Given the description of an element on the screen output the (x, y) to click on. 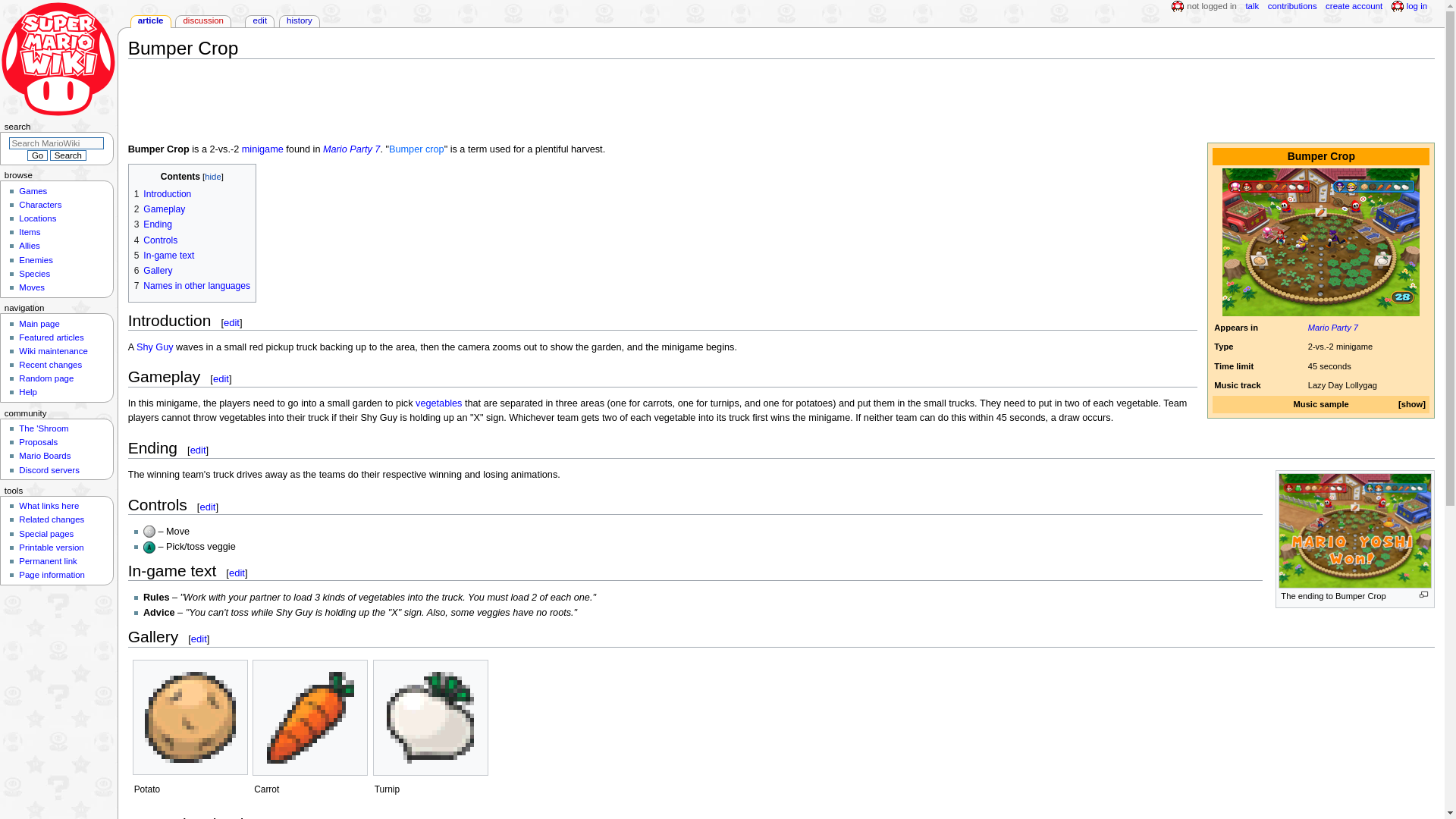
edit (220, 378)
edit (236, 572)
Edit section: Ending (198, 449)
Edit section: Introduction (232, 322)
Control Stick (148, 531)
Shy Guy (154, 347)
Mario Party 7 (351, 149)
Edit section: Gallery (198, 638)
Bumper crop (416, 149)
